Given the description of an element on the screen output the (x, y) to click on. 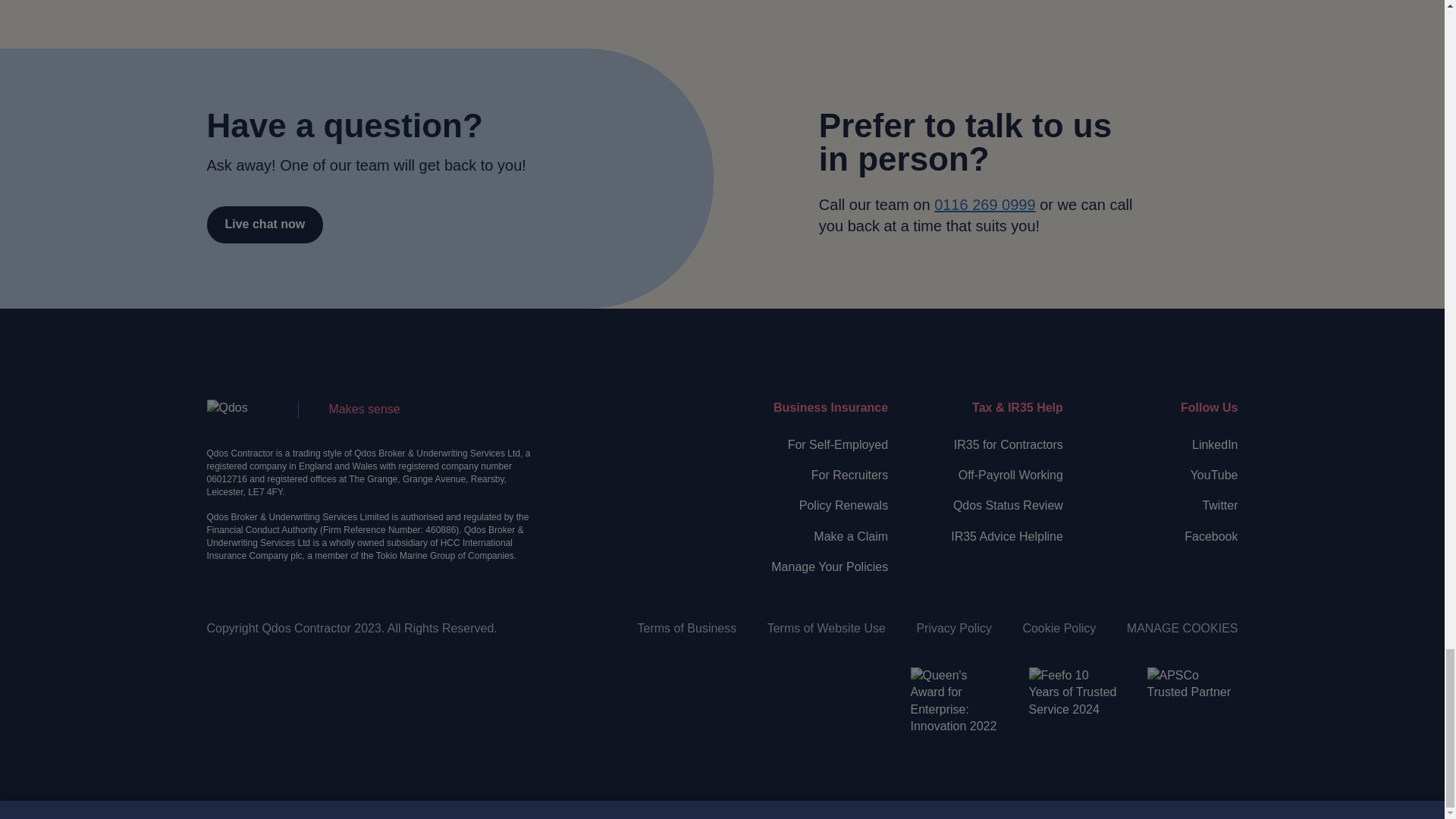
Terms of Website Use (826, 627)
Call 0116 269 0999 (984, 204)
Privacy Policy (953, 627)
Feefo - 10 Years of Trusted Service 2024 (1073, 712)
Terms of Business (686, 627)
Cookie Policy (1059, 627)
